Given the description of an element on the screen output the (x, y) to click on. 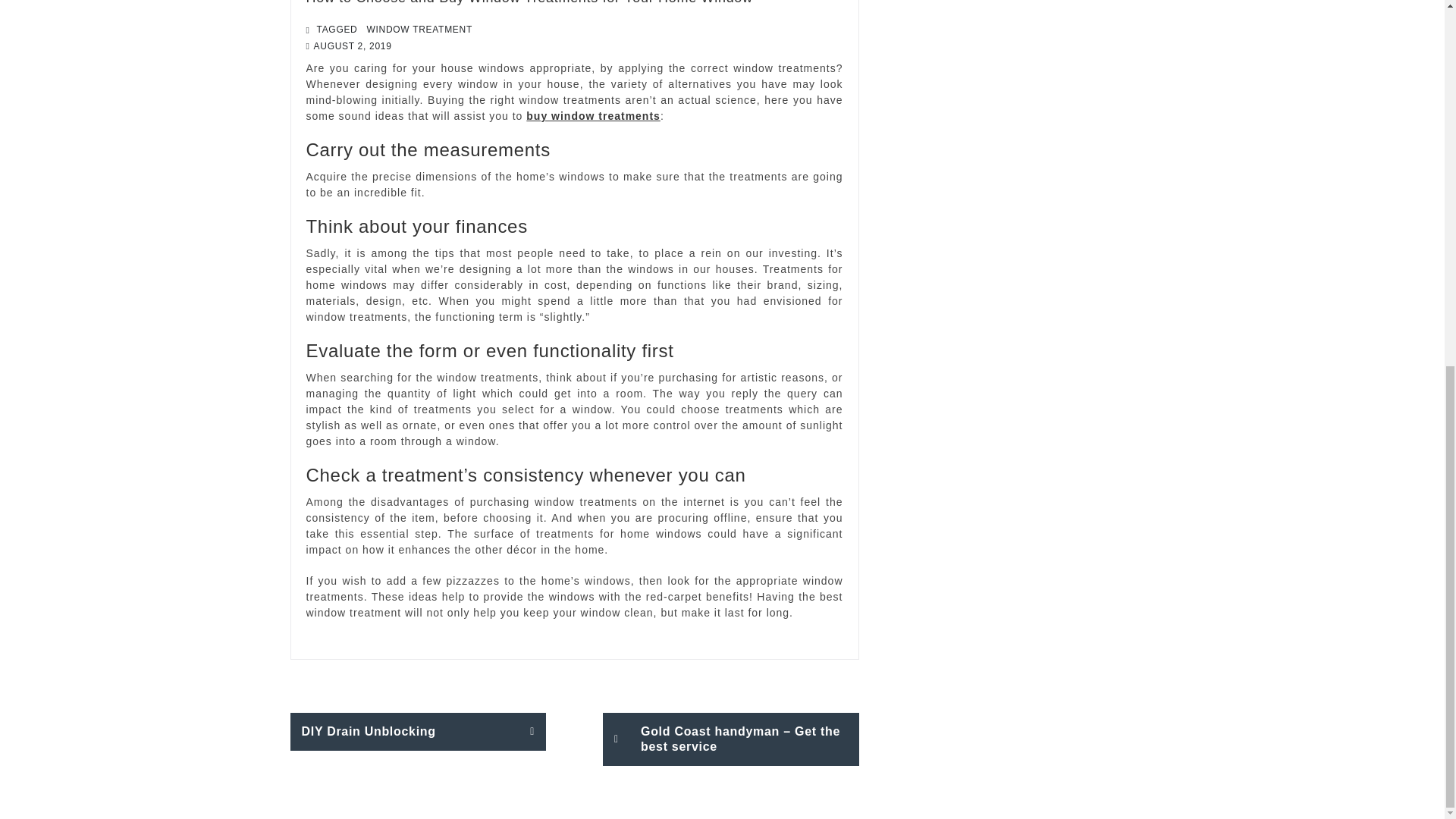
AUGUST 2, 2019 (352, 45)
buy window treatments (593, 115)
WINDOW TREATMENT (420, 29)
DIY Drain Unblocking (417, 731)
